Given the description of an element on the screen output the (x, y) to click on. 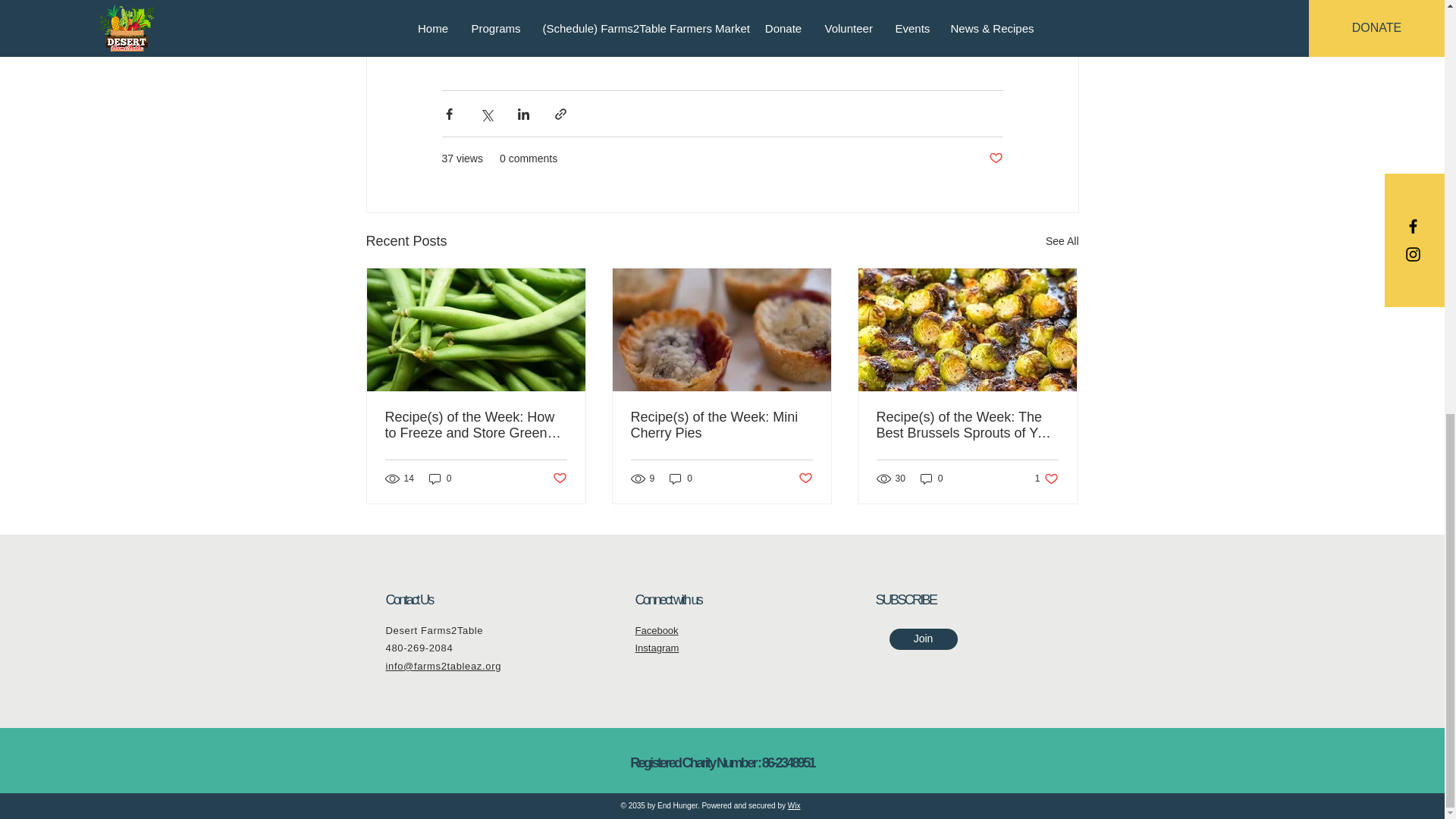
Post not marked as liked (995, 158)
See All (1061, 241)
0 (681, 477)
0 (931, 477)
Strawberry and Goat Cheese Crostini (554, 41)
Post not marked as liked (804, 478)
Post not marked as liked (558, 478)
0 (440, 477)
